Given the description of an element on the screen output the (x, y) to click on. 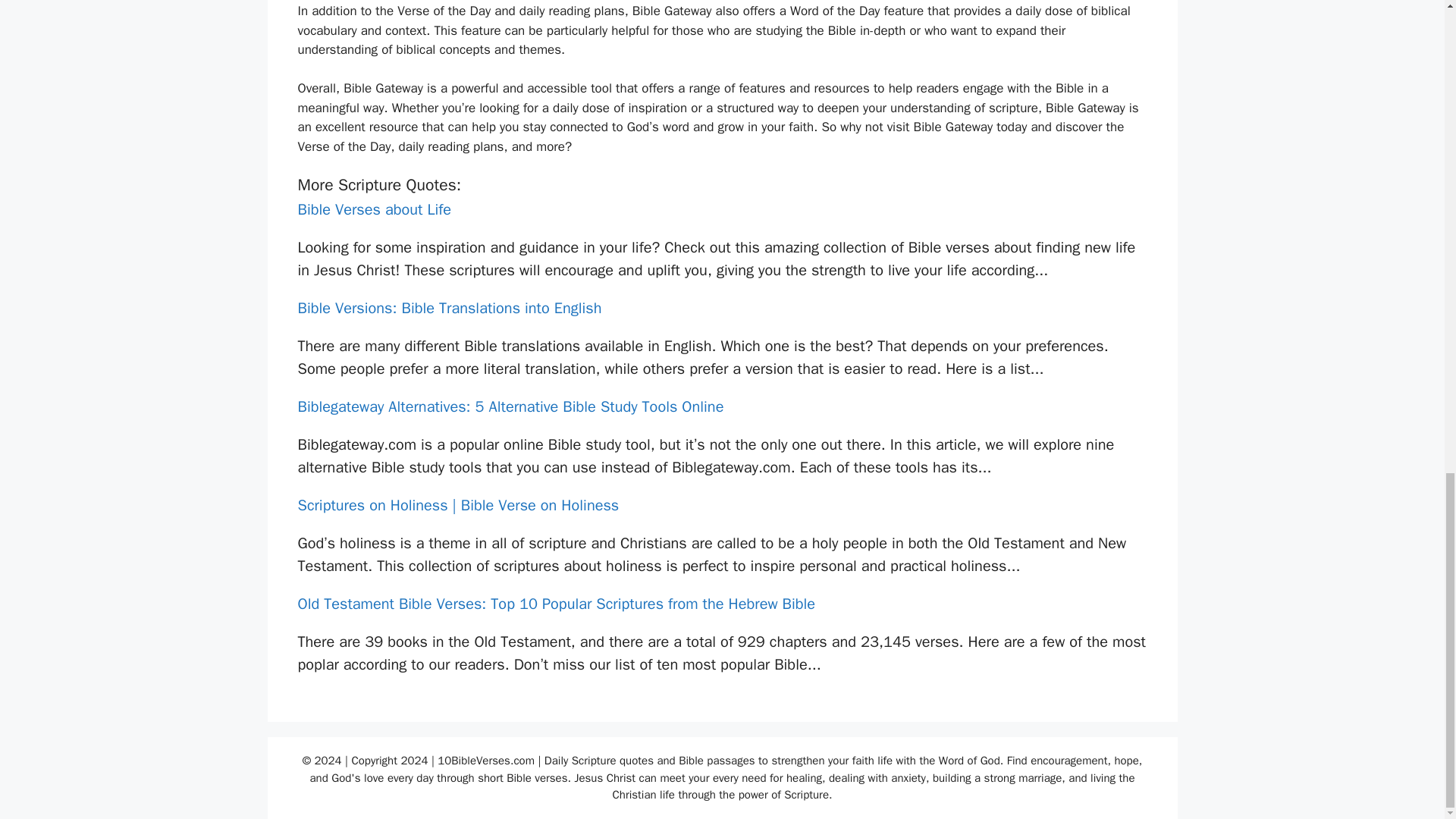
Bible Verses about Life (374, 209)
Bible Verses about Life (374, 209)
Bible Versions: Bible Translations into English (449, 307)
Bible Versions: Bible Translations into English (449, 307)
